Given the description of an element on the screen output the (x, y) to click on. 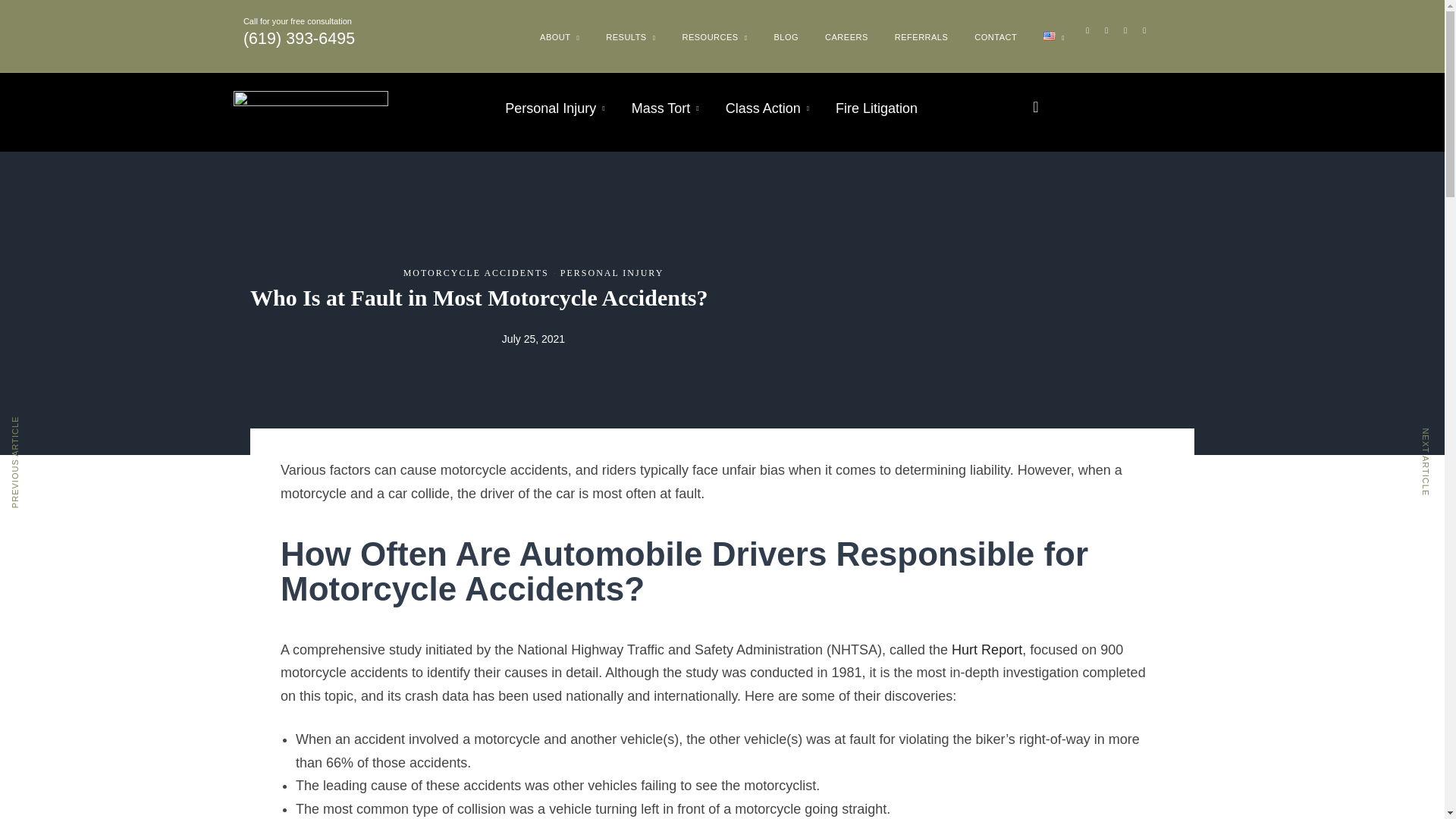
REFERRALS (921, 37)
RESULTS (630, 42)
CAREERS (846, 37)
Personal Injury (554, 108)
ABOUT (559, 42)
RESOURCES (714, 42)
CONTACT (995, 37)
BLOG (786, 37)
Mass Tort (665, 108)
